Given the description of an element on the screen output the (x, y) to click on. 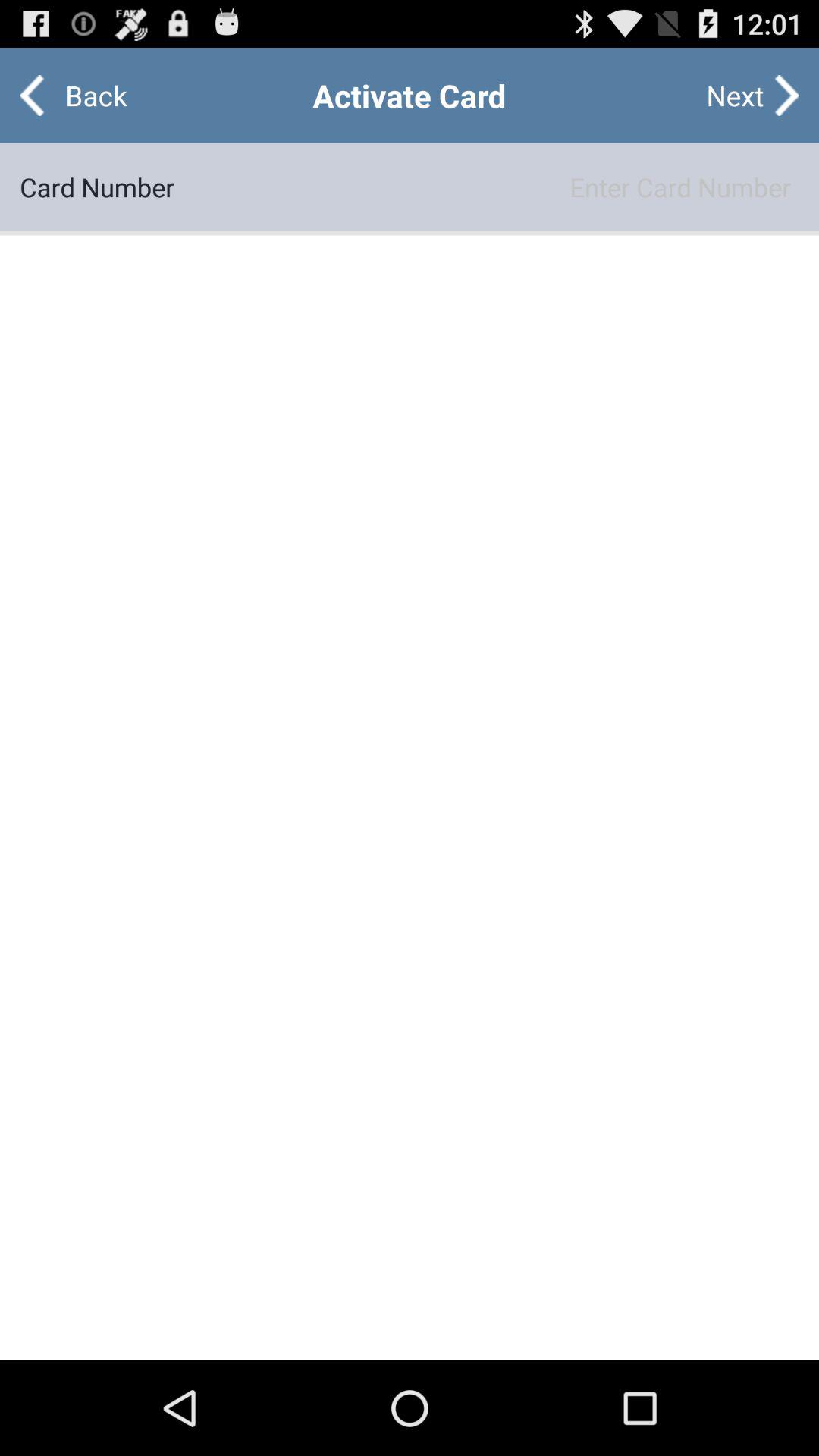
tap icon to the right of the card number icon (486, 186)
